Given the description of an element on the screen output the (x, y) to click on. 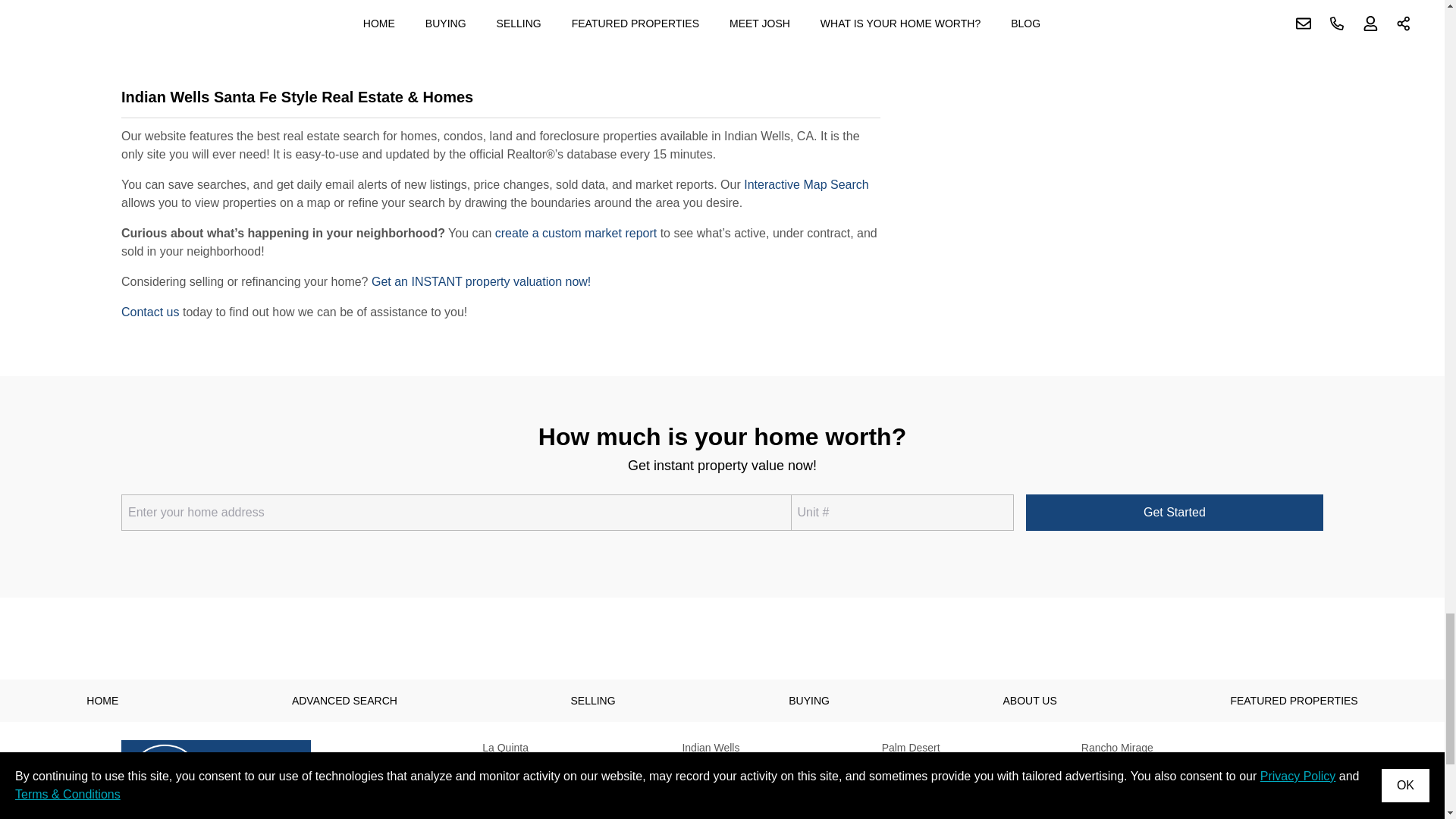
Indian Wells Santa Fe Style Real Estate (500, 101)
